Given the description of an element on the screen output the (x, y) to click on. 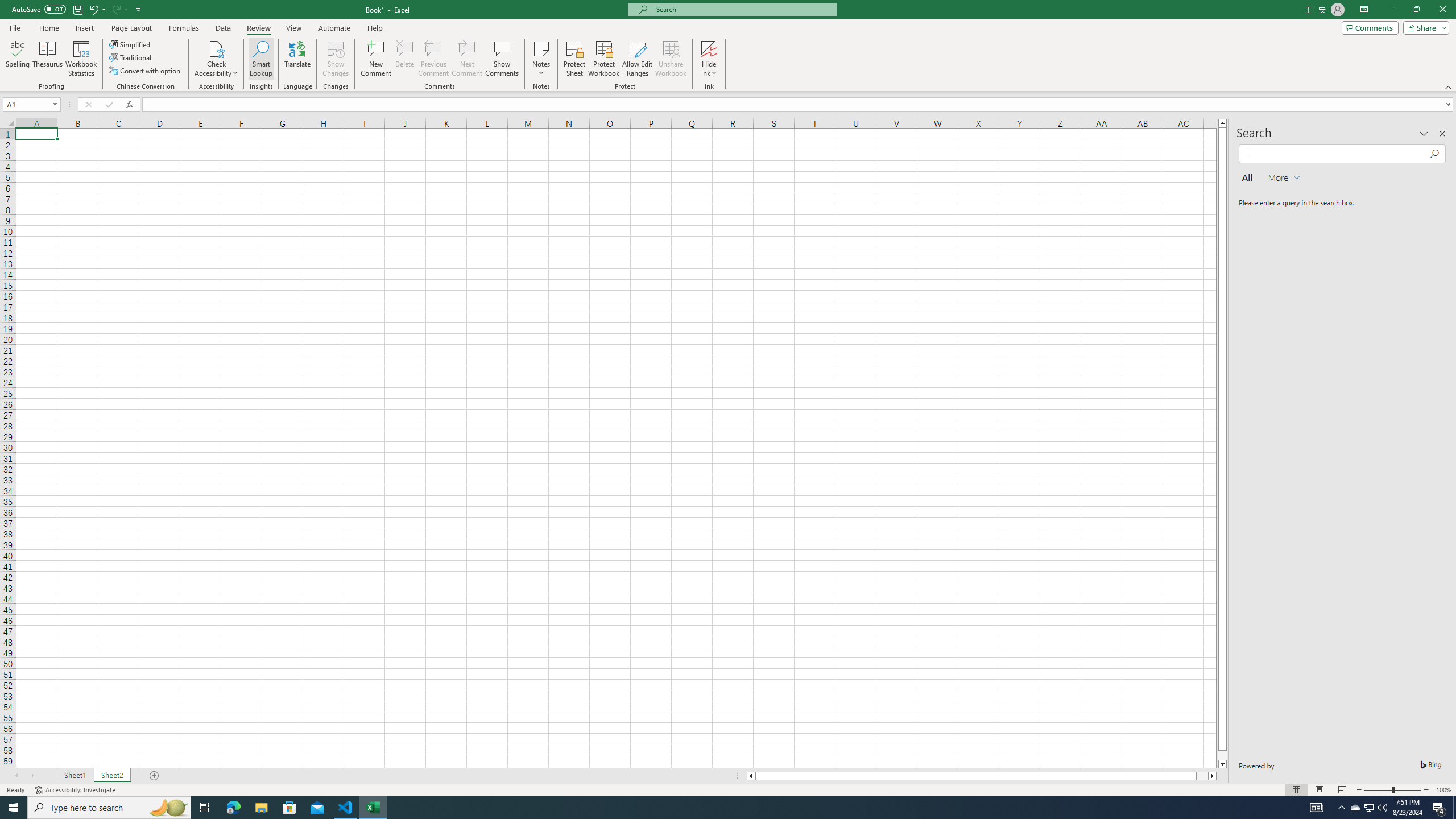
Formula Bar (799, 104)
Show Comments (501, 58)
Simplified (130, 44)
Close pane (1441, 133)
